Given the description of an element on the screen output the (x, y) to click on. 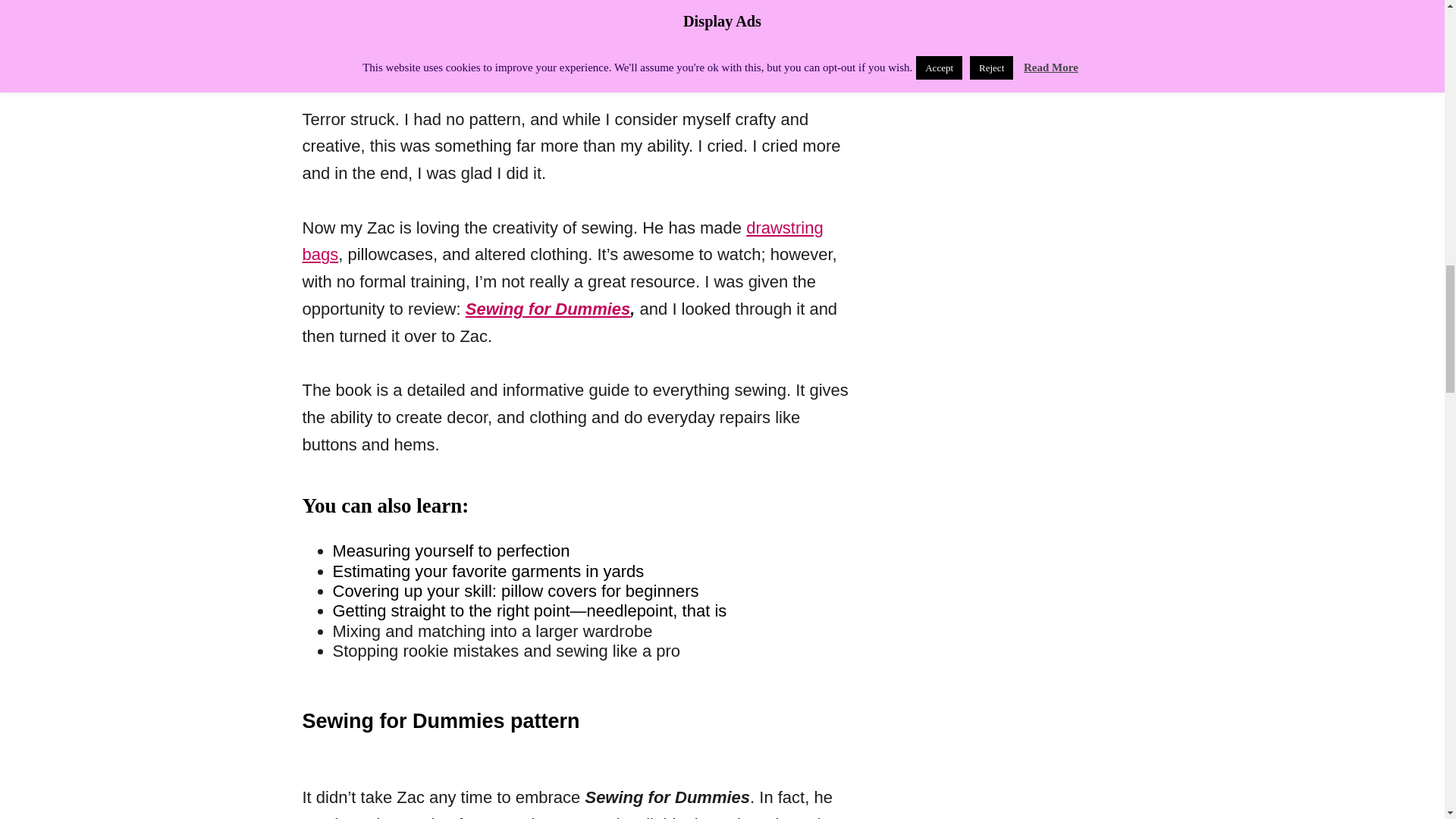
drawstring bags (561, 241)
Sewing for Dummies (547, 308)
